Given the description of an element on the screen output the (x, y) to click on. 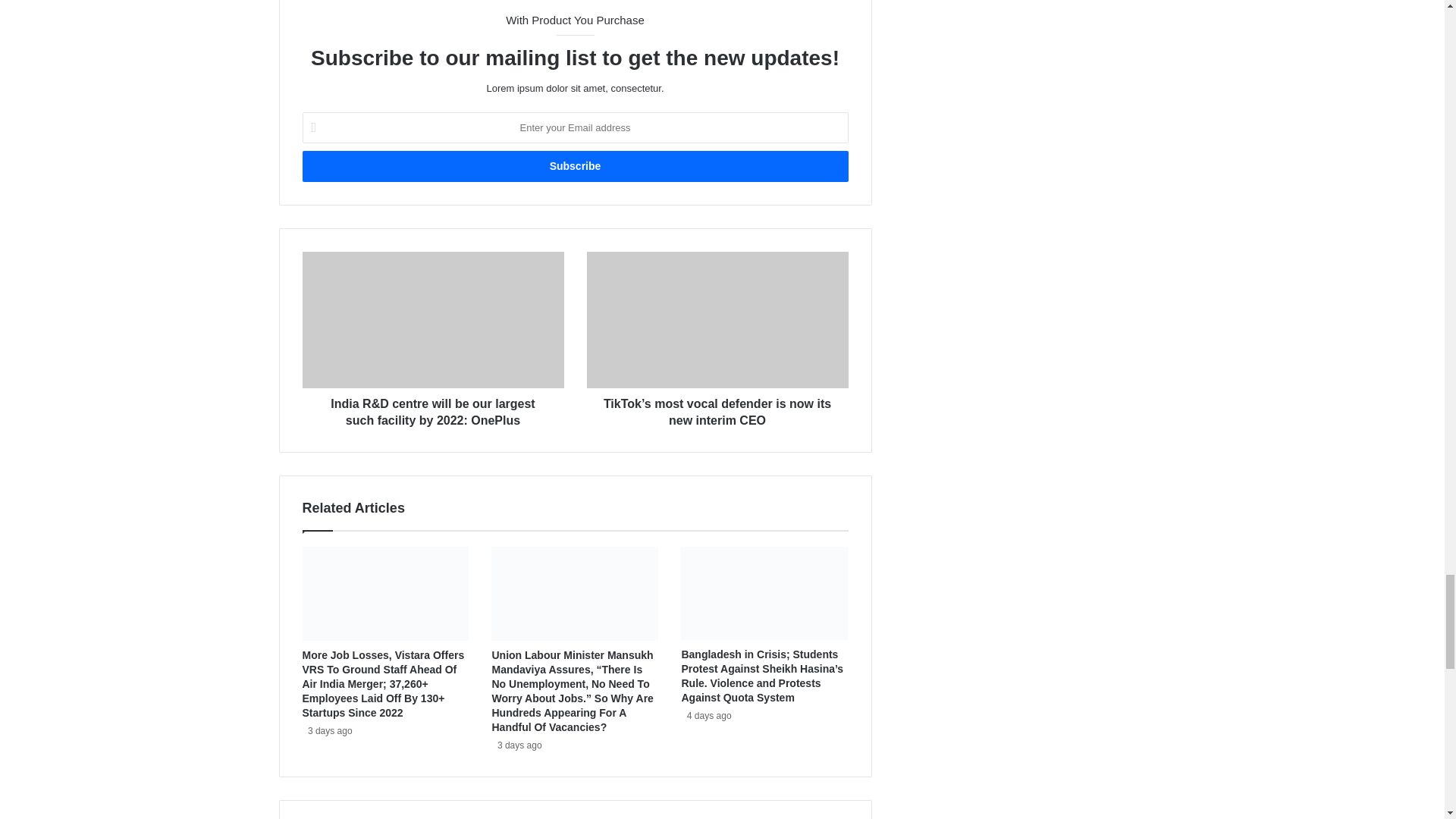
Subscribe (574, 165)
